Given the description of an element on the screen output the (x, y) to click on. 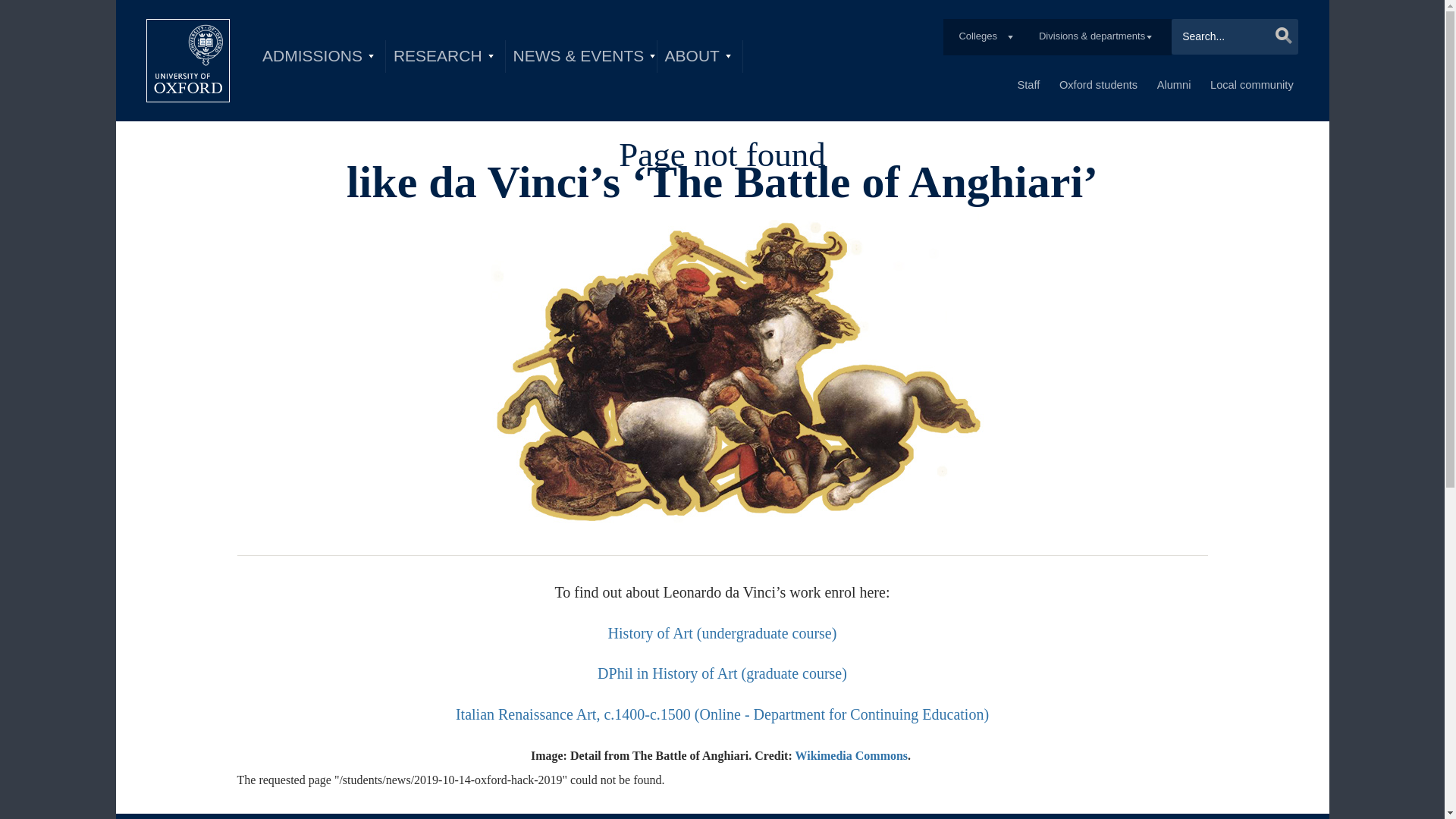
Home (188, 60)
Enter the terms you wish to search for. (1235, 36)
Search (1279, 35)
Home (188, 60)
